Given the description of an element on the screen output the (x, y) to click on. 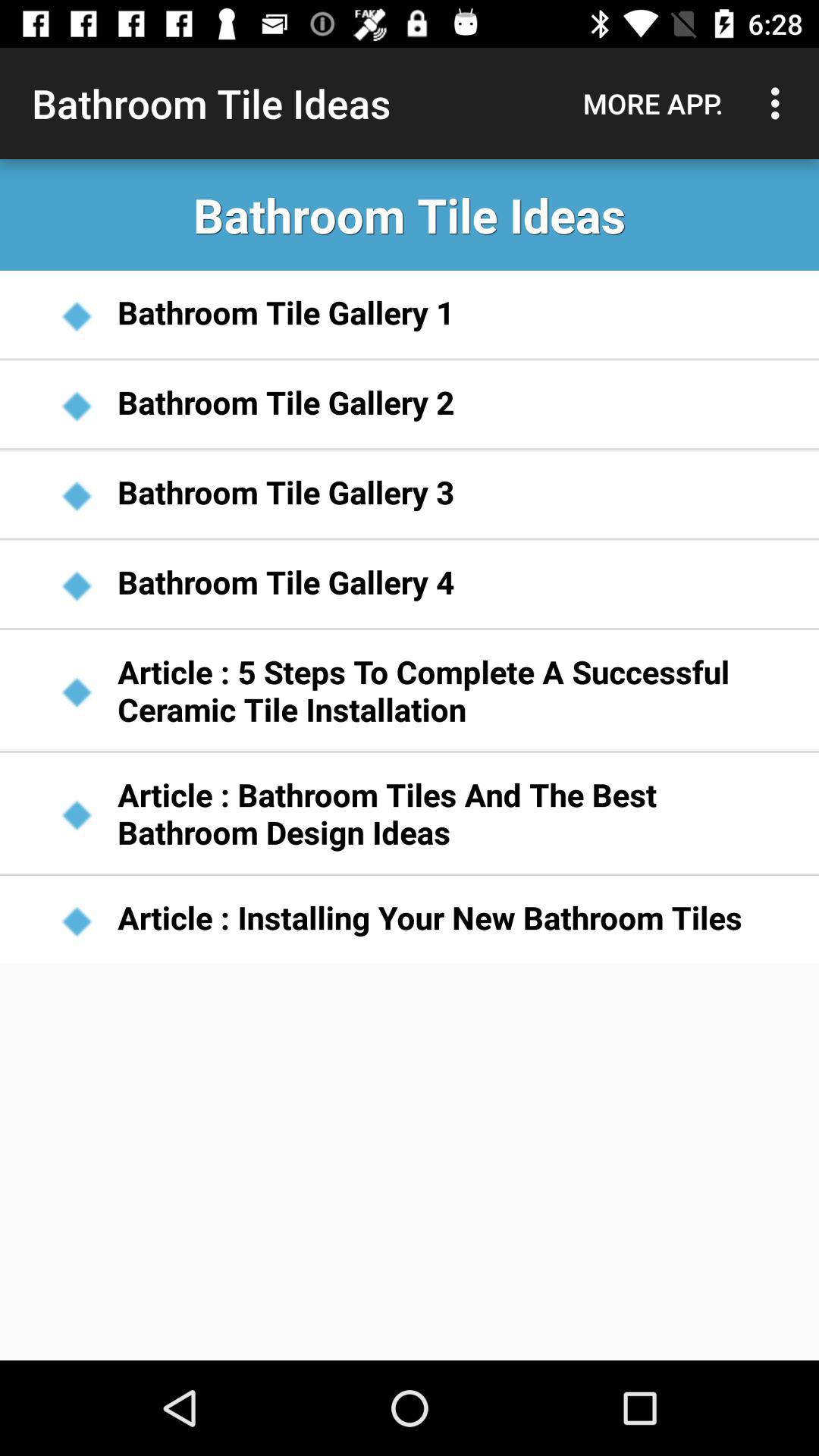
open icon above bathroom tile ideas app (779, 103)
